Given the description of an element on the screen output the (x, y) to click on. 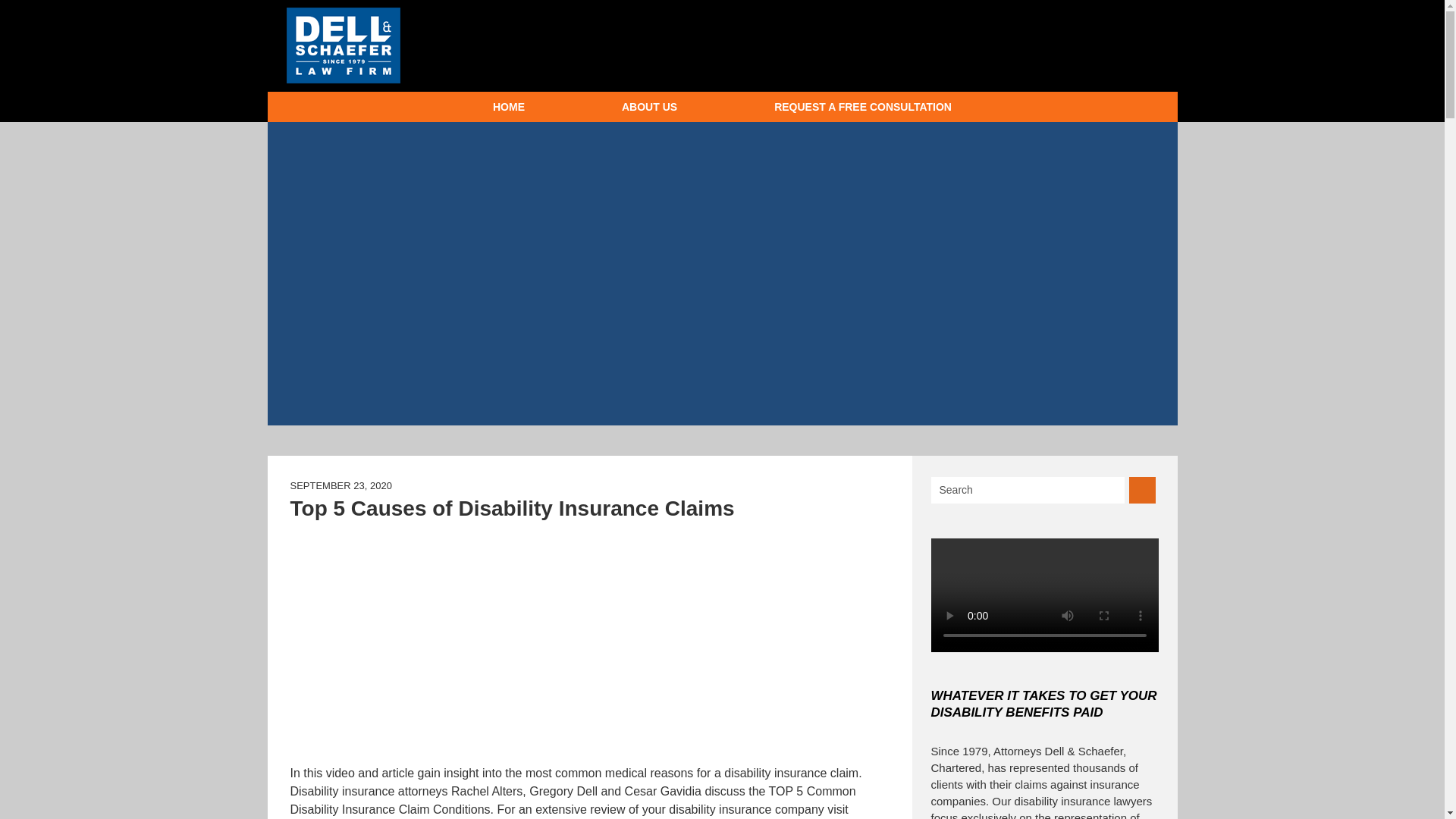
SEARCH (1142, 489)
HOME (508, 106)
Speak With A Disability Lawyer Now: CALL 888-699-9438 (989, 44)
ABOUT US (649, 106)
REQUEST A FREE CONSULTATION (862, 106)
Long Term Disability Law Blog (343, 45)
Top 5 Causes of Disability Insurance Claims (478, 639)
